Given the description of an element on the screen output the (x, y) to click on. 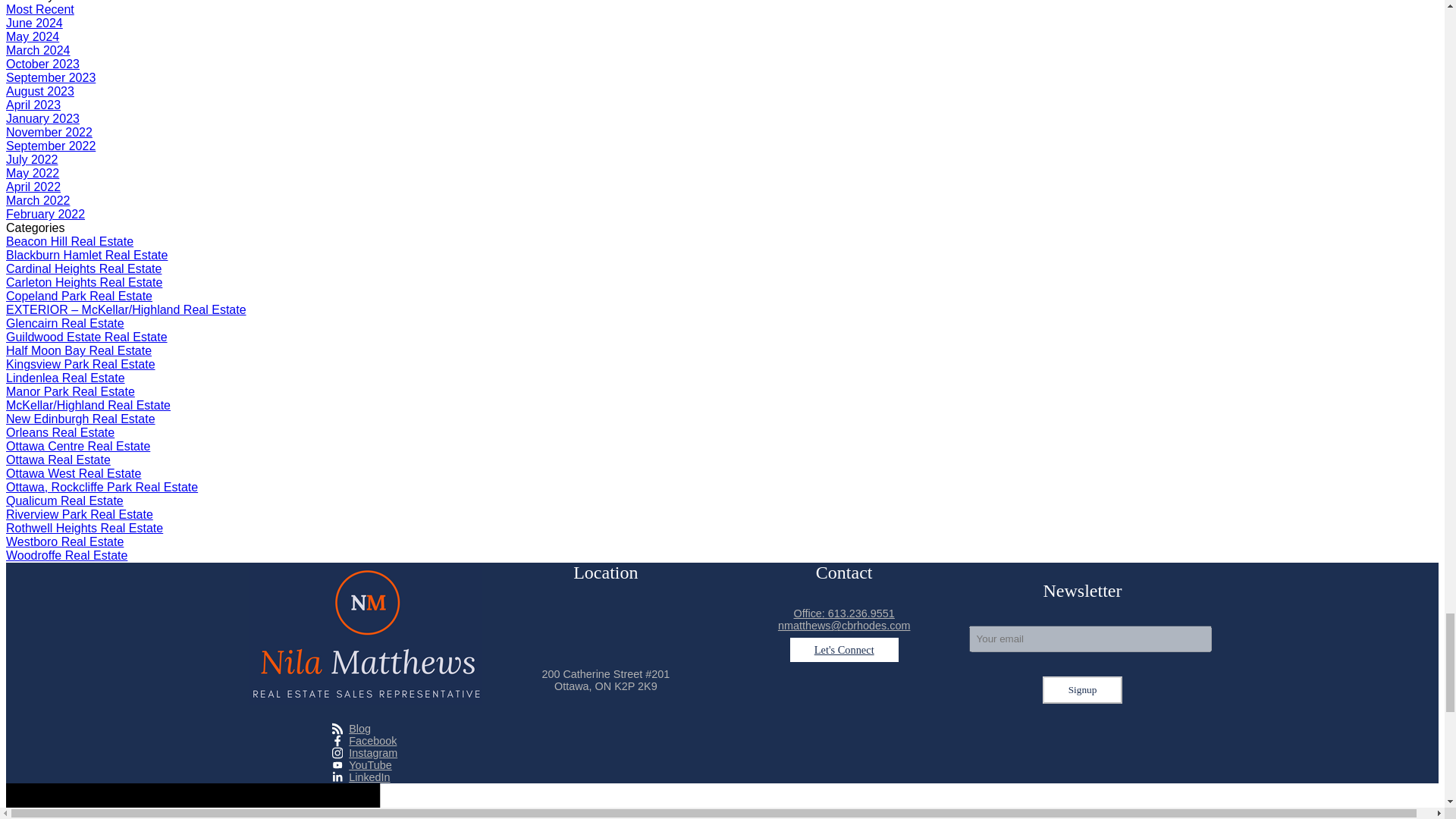
May 2024 (32, 36)
October 2023 (42, 63)
September 2023 (50, 77)
March 2024 (37, 50)
LinkedIn (364, 776)
Instagram (364, 752)
Most Recent (39, 9)
August 2023 (39, 91)
Blog (364, 728)
June 2024 (33, 22)
